Given the description of an element on the screen output the (x, y) to click on. 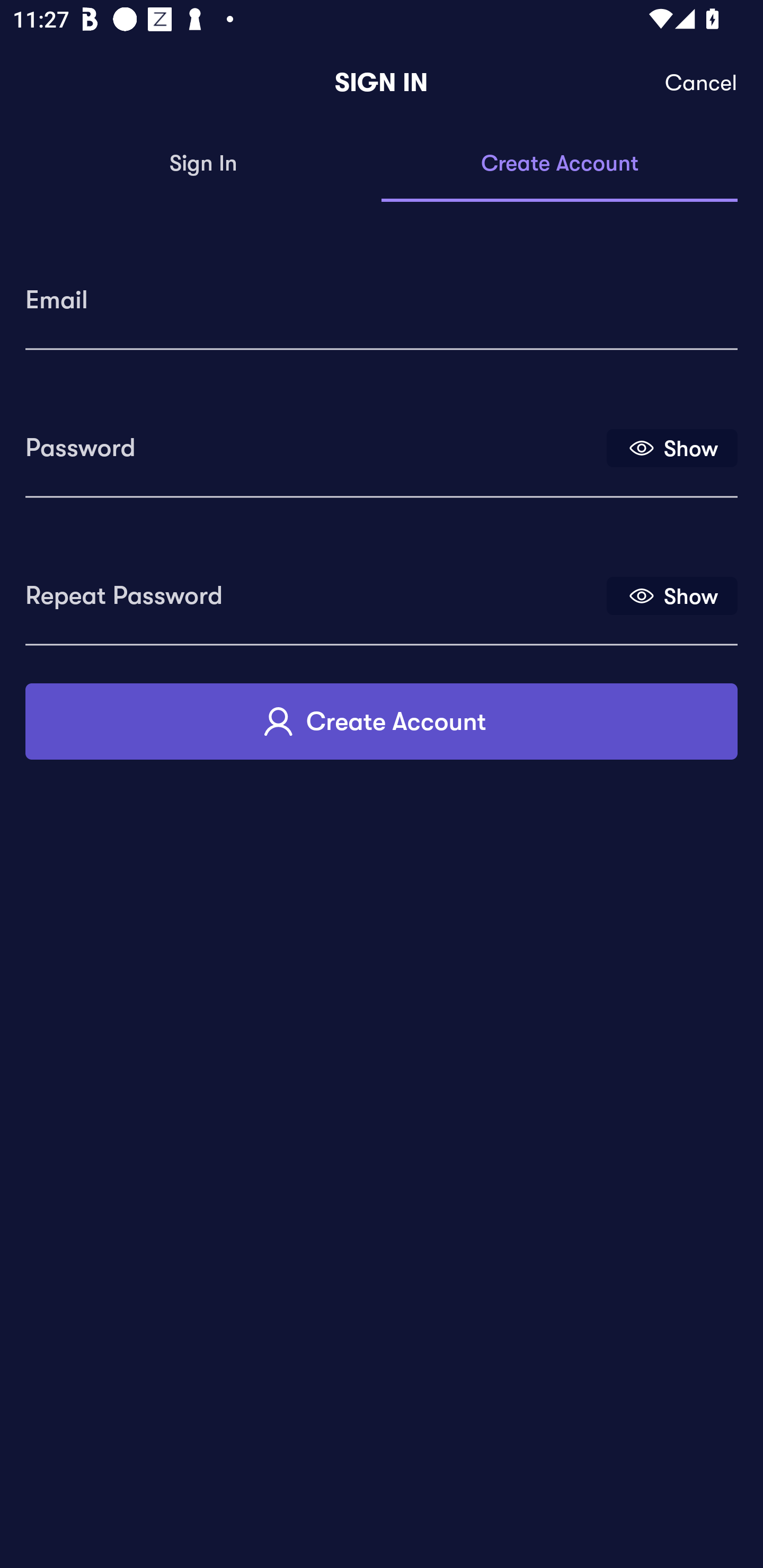
Cancel (701, 82)
Sign In (203, 164)
Create Account (559, 164)
Email (381, 293)
Password (314, 441)
Show Password Show (671, 447)
Repeat Password (314, 589)
Show Repeat Password Show (671, 595)
Create Account (381, 720)
